Given the description of an element on the screen output the (x, y) to click on. 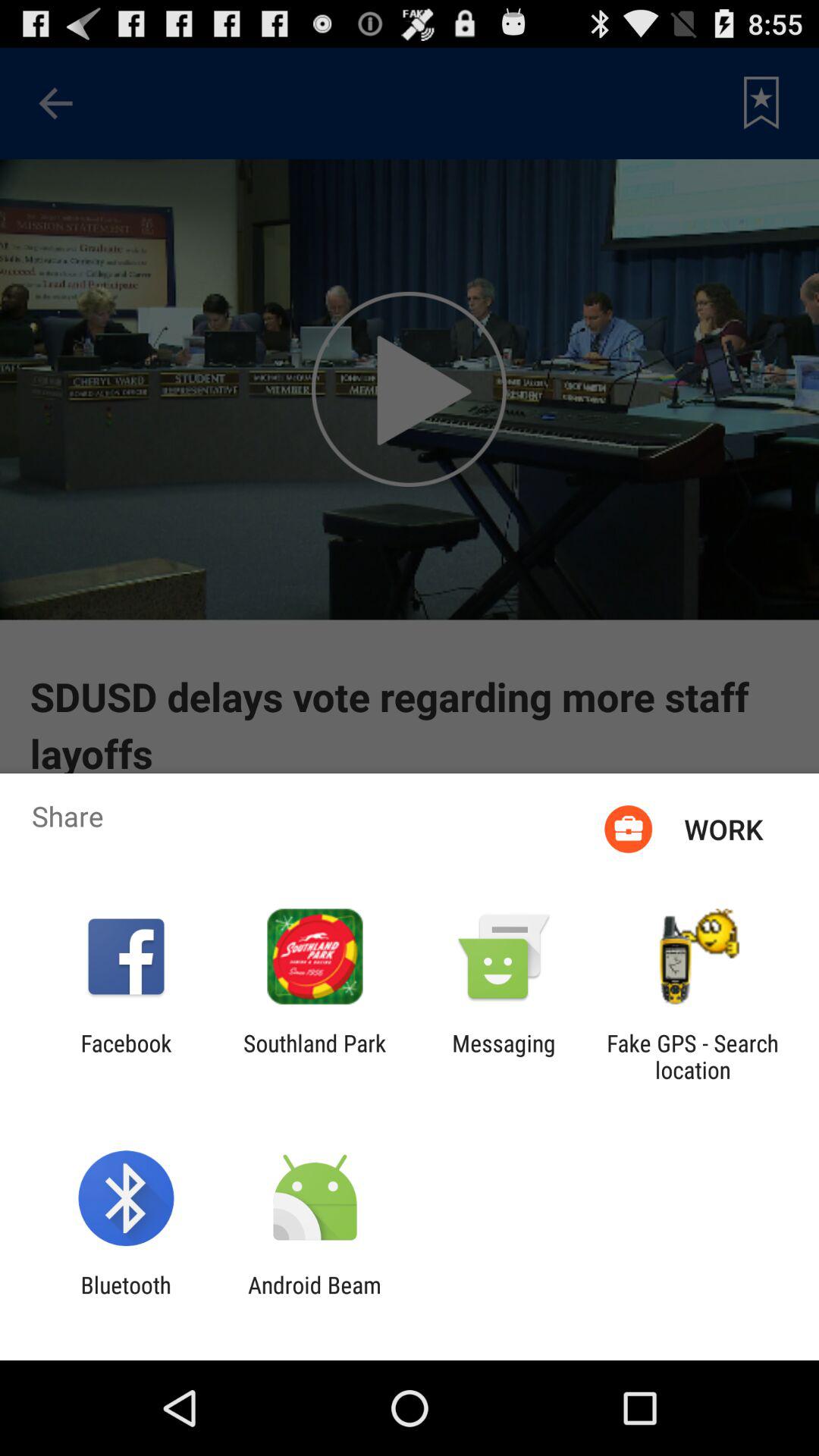
tap the app to the left of the southland park (125, 1056)
